Given the description of an element on the screen output the (x, y) to click on. 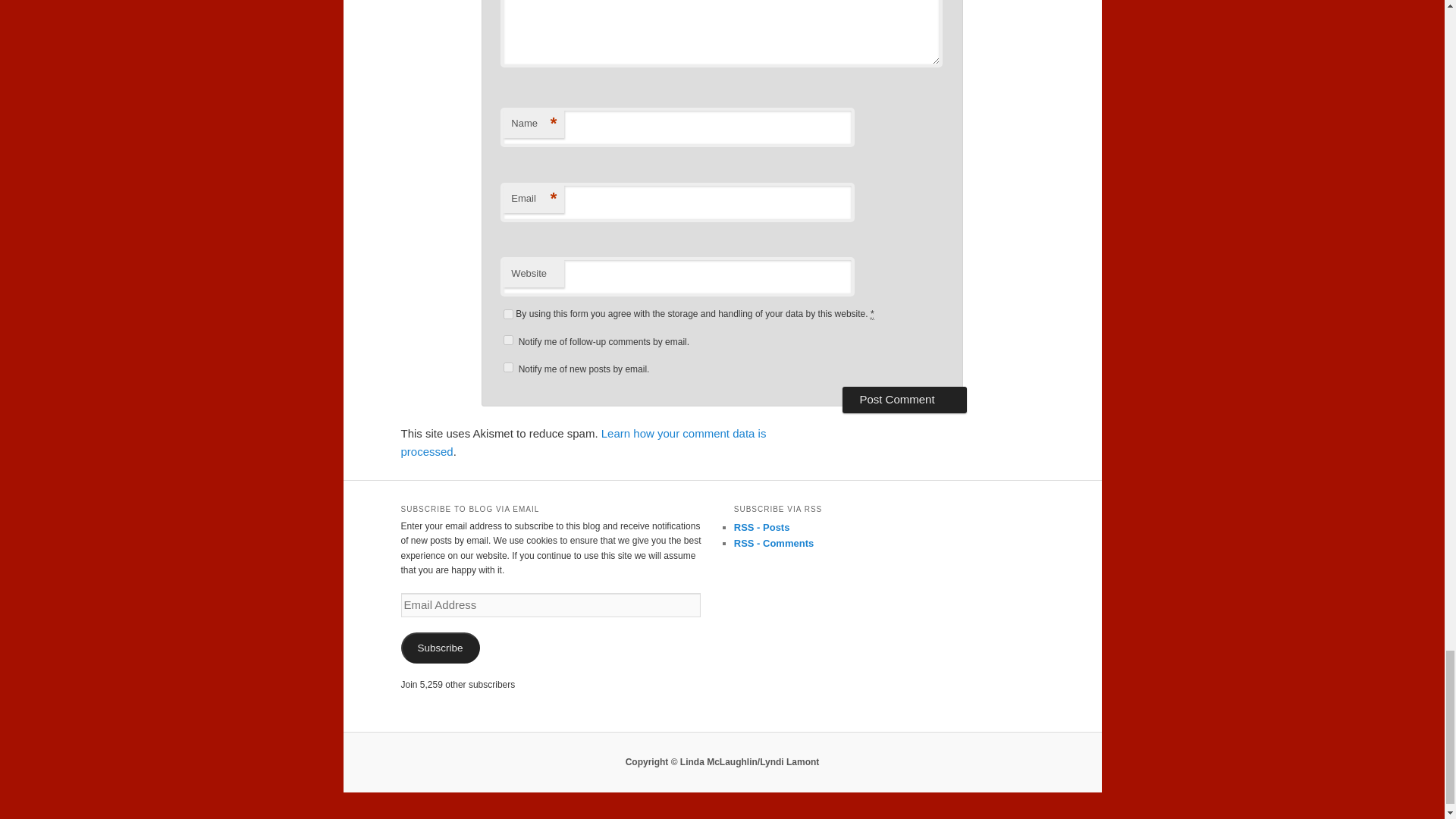
Subscribe to comments (773, 542)
Subscribe to posts (761, 527)
subscribe (508, 367)
subscribe (508, 339)
Post Comment (904, 399)
